Given the description of an element on the screen output the (x, y) to click on. 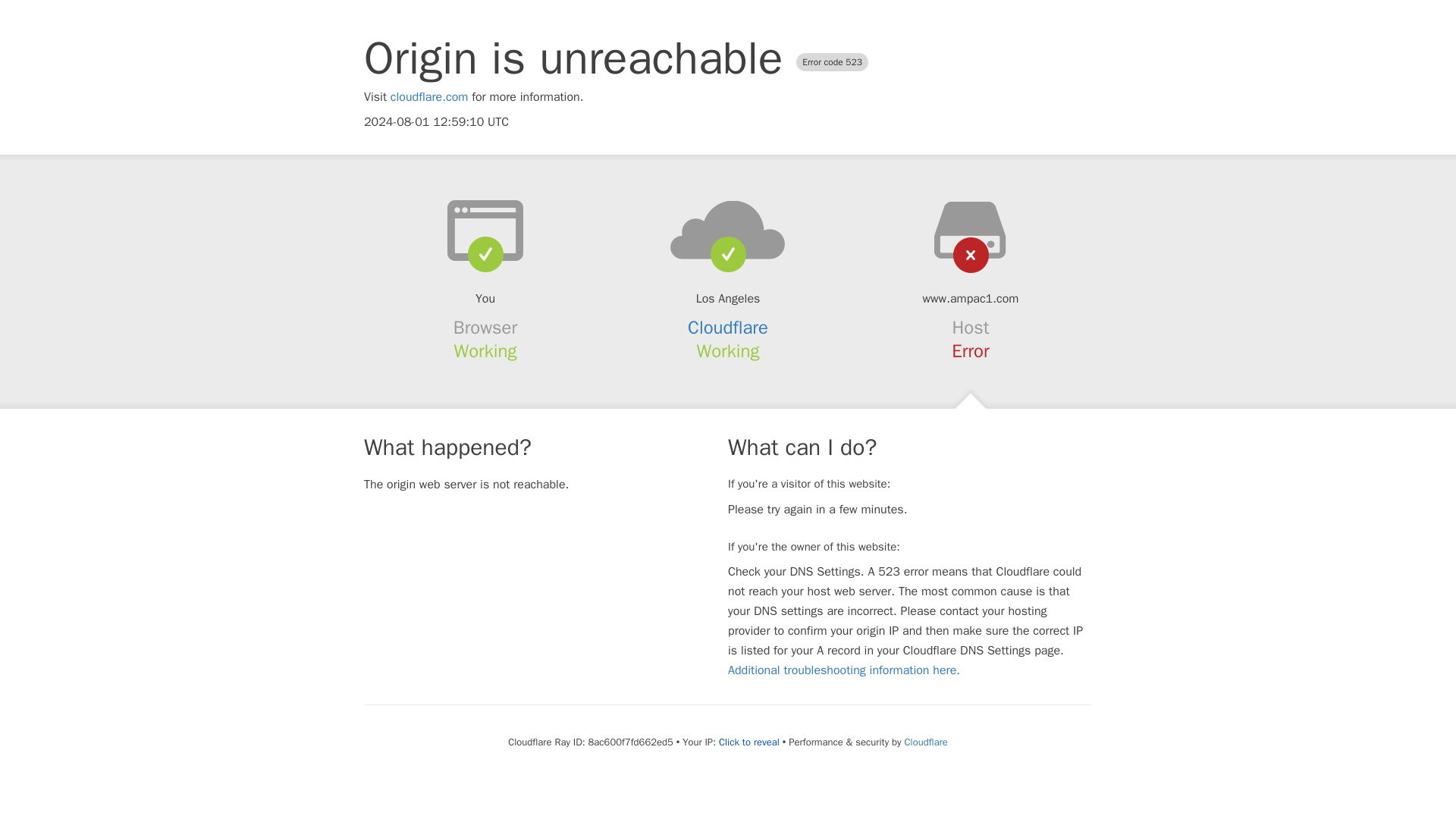
cloudflare.com (429, 96)
Click to reveal (748, 742)
Additional troubleshooting information here. (843, 670)
Cloudflare (925, 741)
Cloudflare (727, 327)
